Given the description of an element on the screen output the (x, y) to click on. 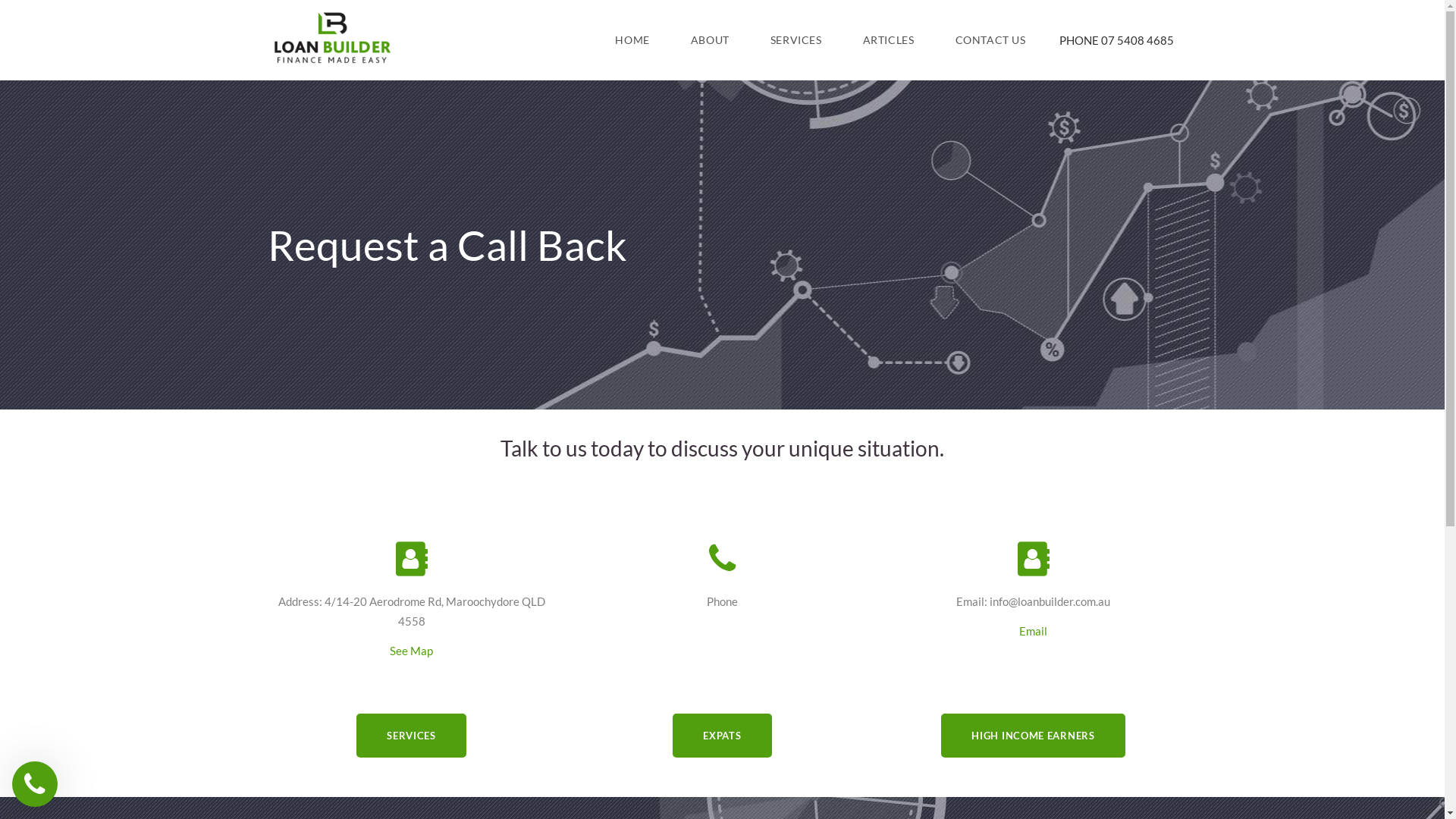
HOME Element type: text (631, 40)
EXPATS Element type: text (721, 735)
Email Element type: text (1033, 630)
PHONE 07 5408 4685 Element type: text (1115, 40)
ABOUT Element type: text (709, 40)
HIGH INCOME EARNERS Element type: text (1032, 735)
CONTACT US Element type: text (989, 40)
SERVICES Element type: text (795, 40)
SERVICES Element type: text (411, 735)
See Map Element type: text (411, 650)
ARTICLES Element type: text (888, 40)
